Given the description of an element on the screen output the (x, y) to click on. 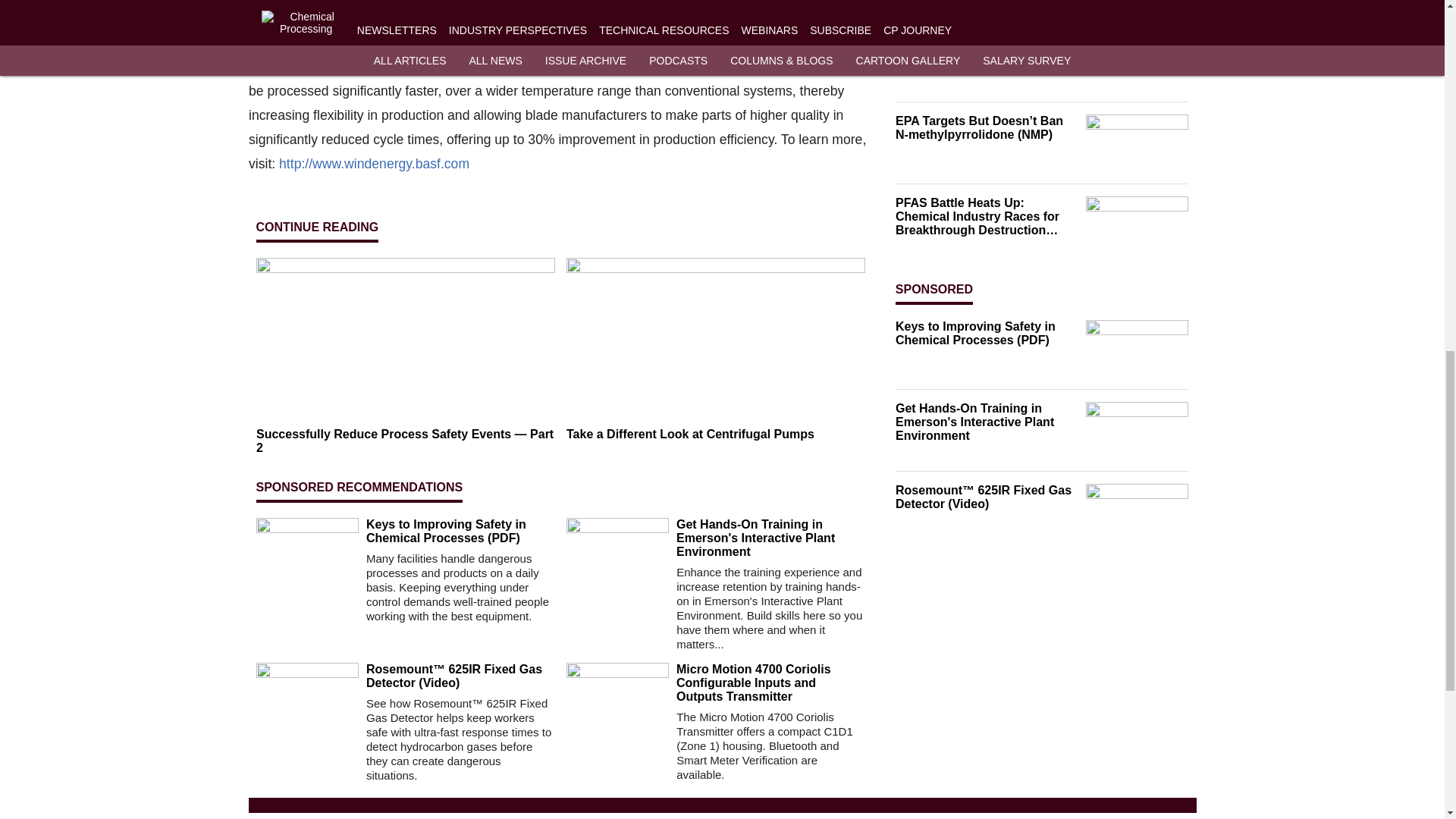
Take a Different Look at Centrifugal Pumps (715, 434)
